Given the description of an element on the screen output the (x, y) to click on. 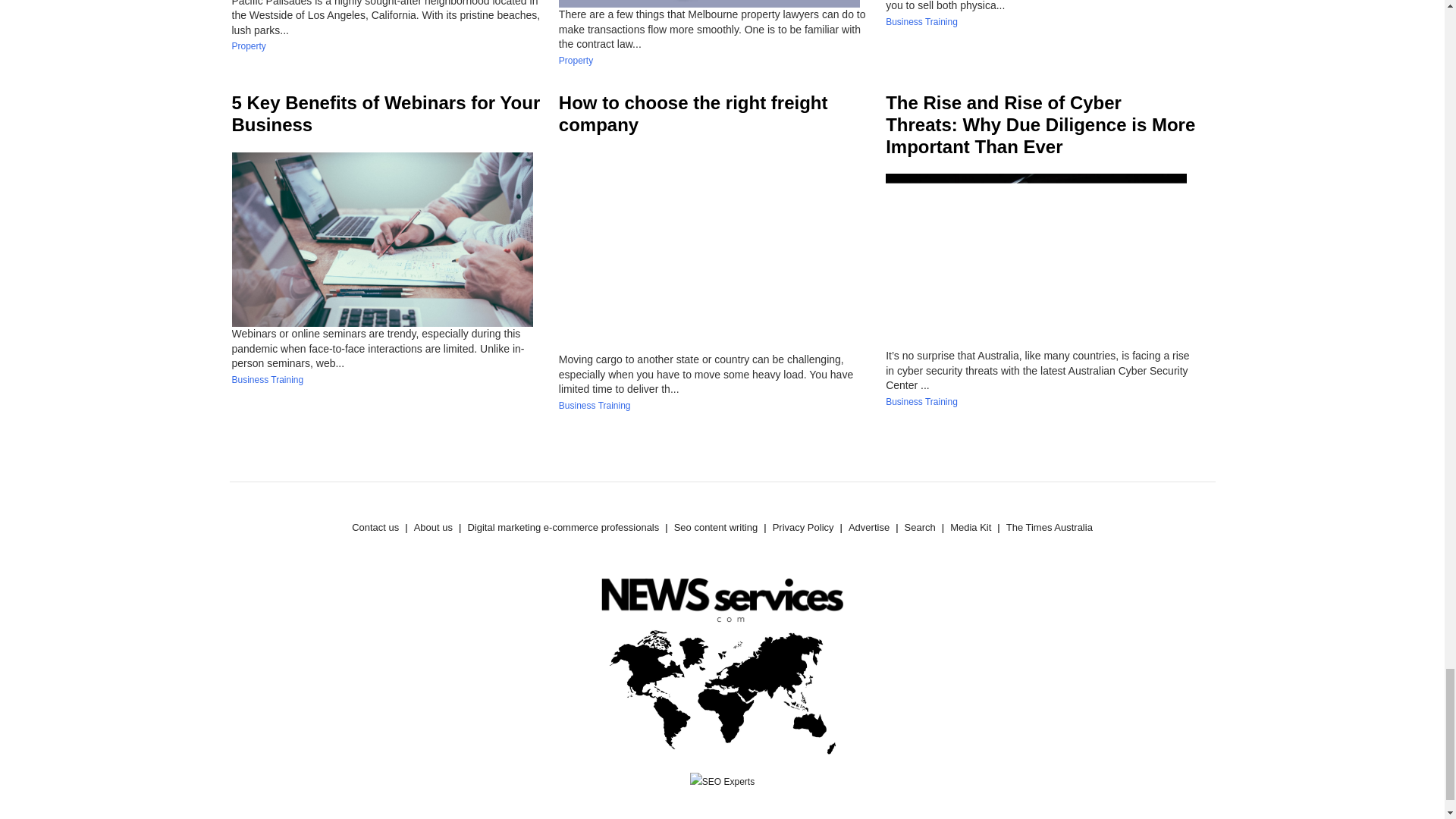
How to choose the right freight company (693, 113)
5 Key Benefits of Webinars for Your Business (385, 113)
